Given the description of an element on the screen output the (x, y) to click on. 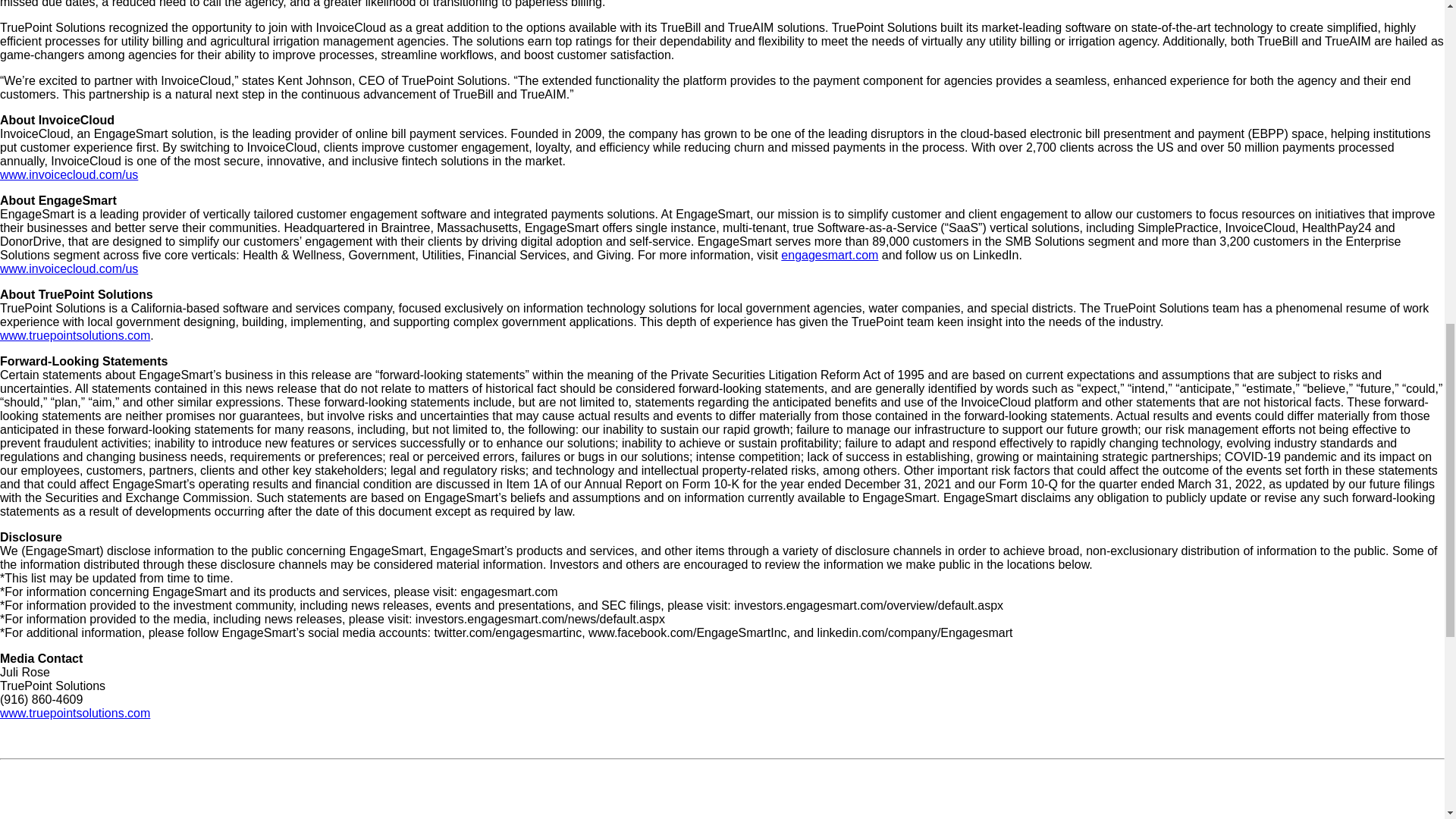
www.truepointsolutions.com (74, 712)
www.truepointsolutions.com (74, 335)
engagesmart.com (828, 254)
